Given the description of an element on the screen output the (x, y) to click on. 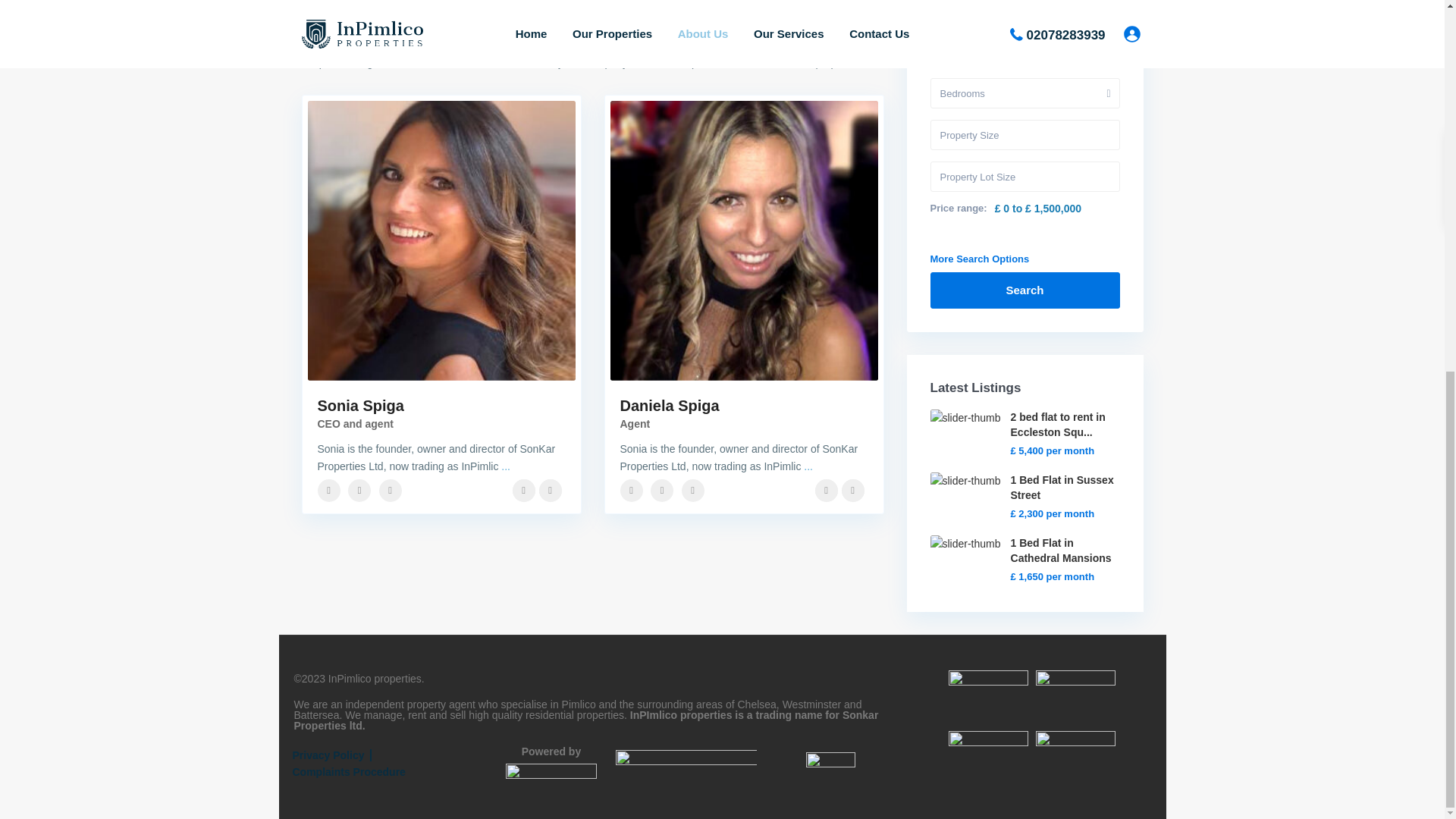
Daniela Spiga (669, 405)
Sonia Spiga (360, 405)
